Given the description of an element on the screen output the (x, y) to click on. 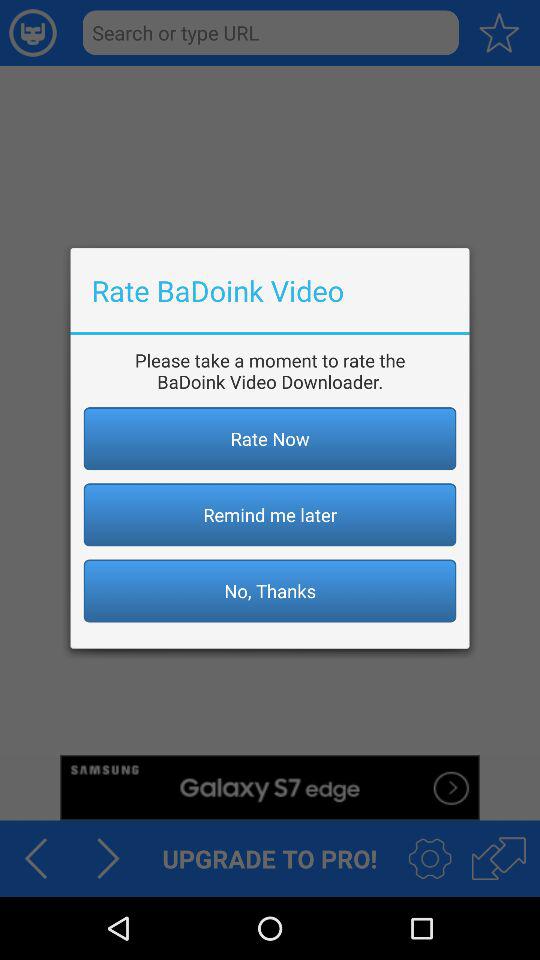
flip to rate now icon (269, 438)
